Given the description of an element on the screen output the (x, y) to click on. 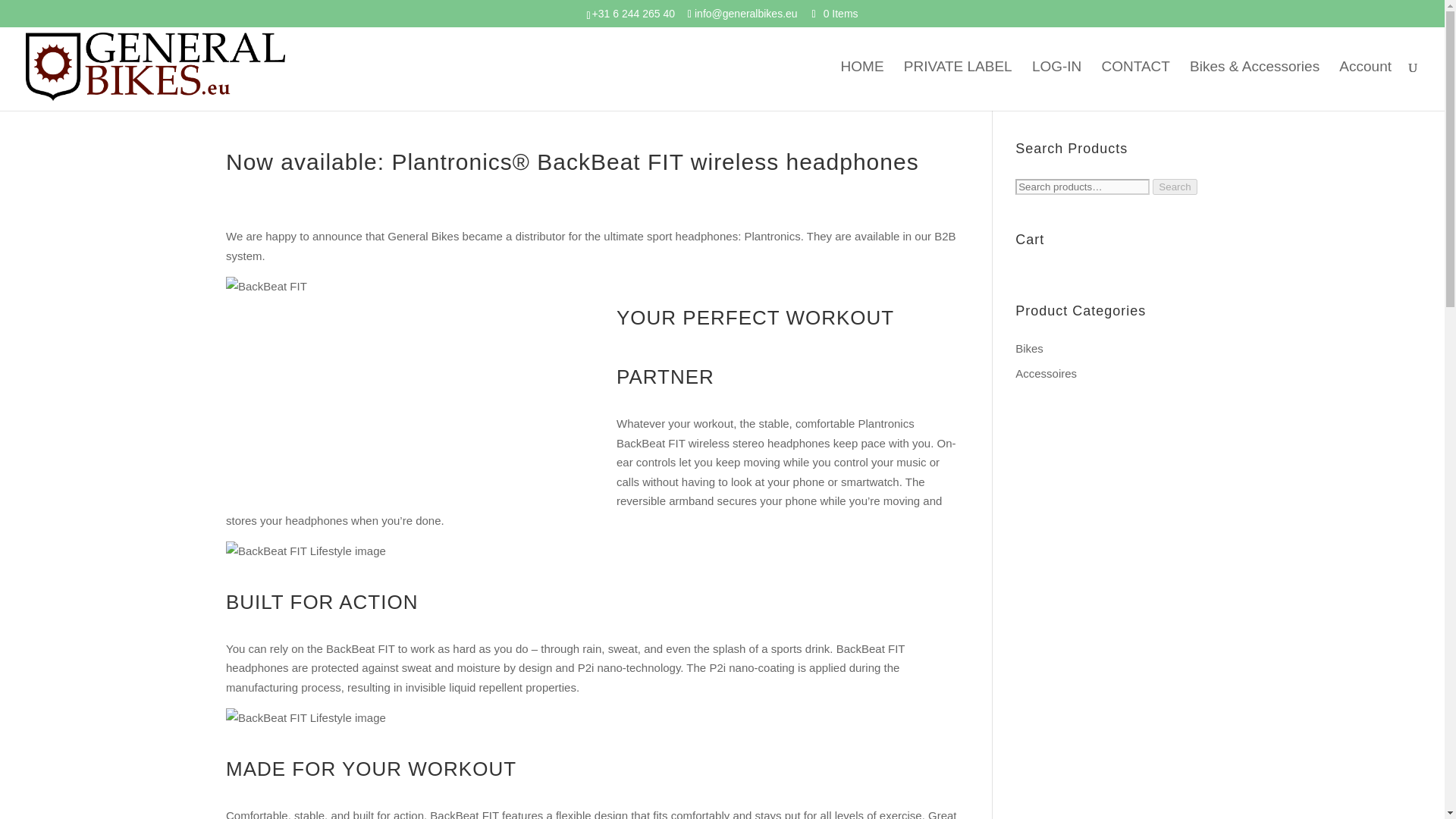
0 Items (835, 13)
Search (1174, 186)
CONTACT (1134, 85)
LOG-IN (1056, 85)
Account (1365, 85)
PRIVATE LABEL (957, 85)
Bikes (1028, 347)
Accessoires (1045, 373)
